Given the description of an element on the screen output the (x, y) to click on. 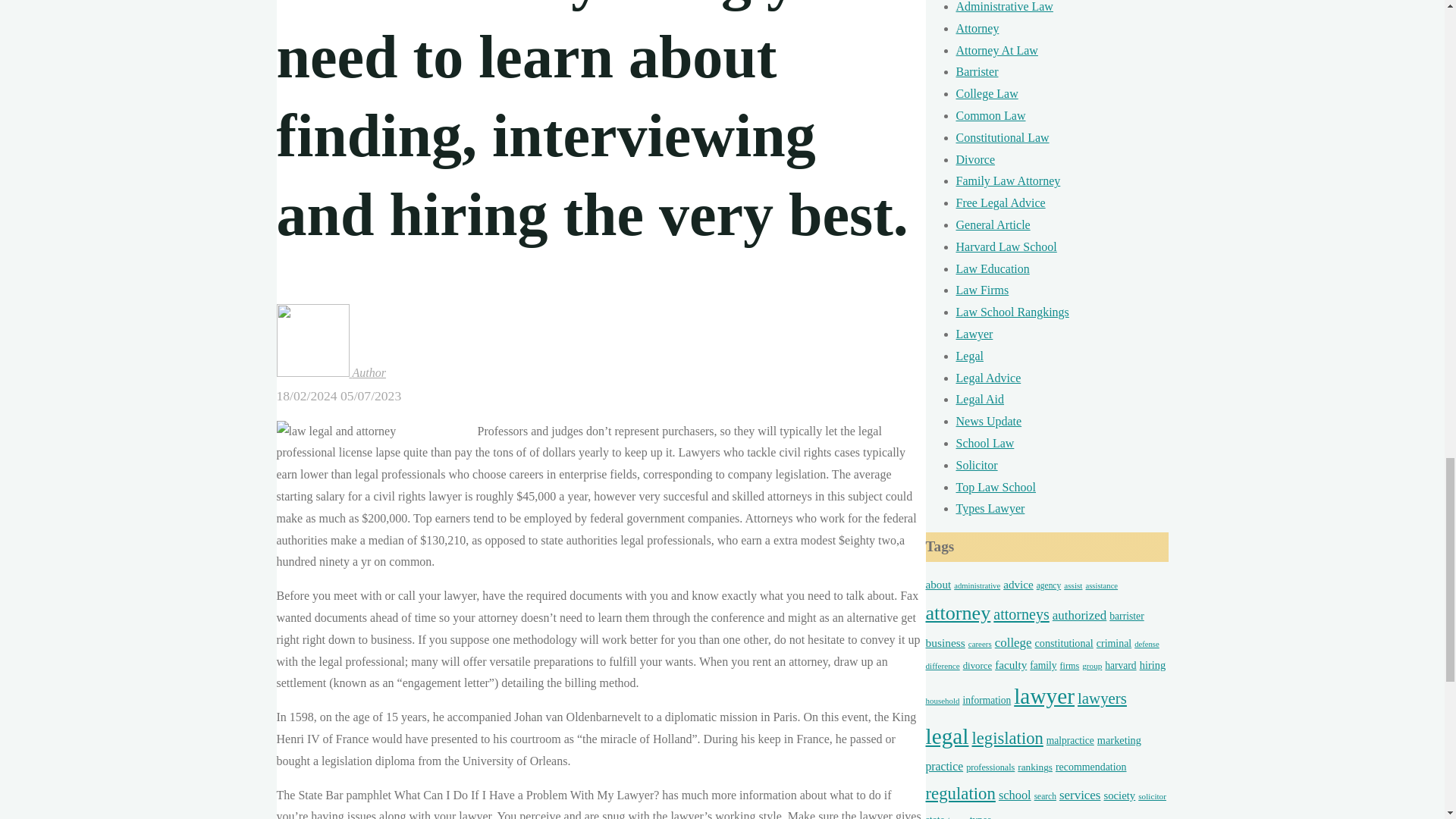
View all posts by Author (330, 372)
Author (330, 372)
